Given the description of an element on the screen output the (x, y) to click on. 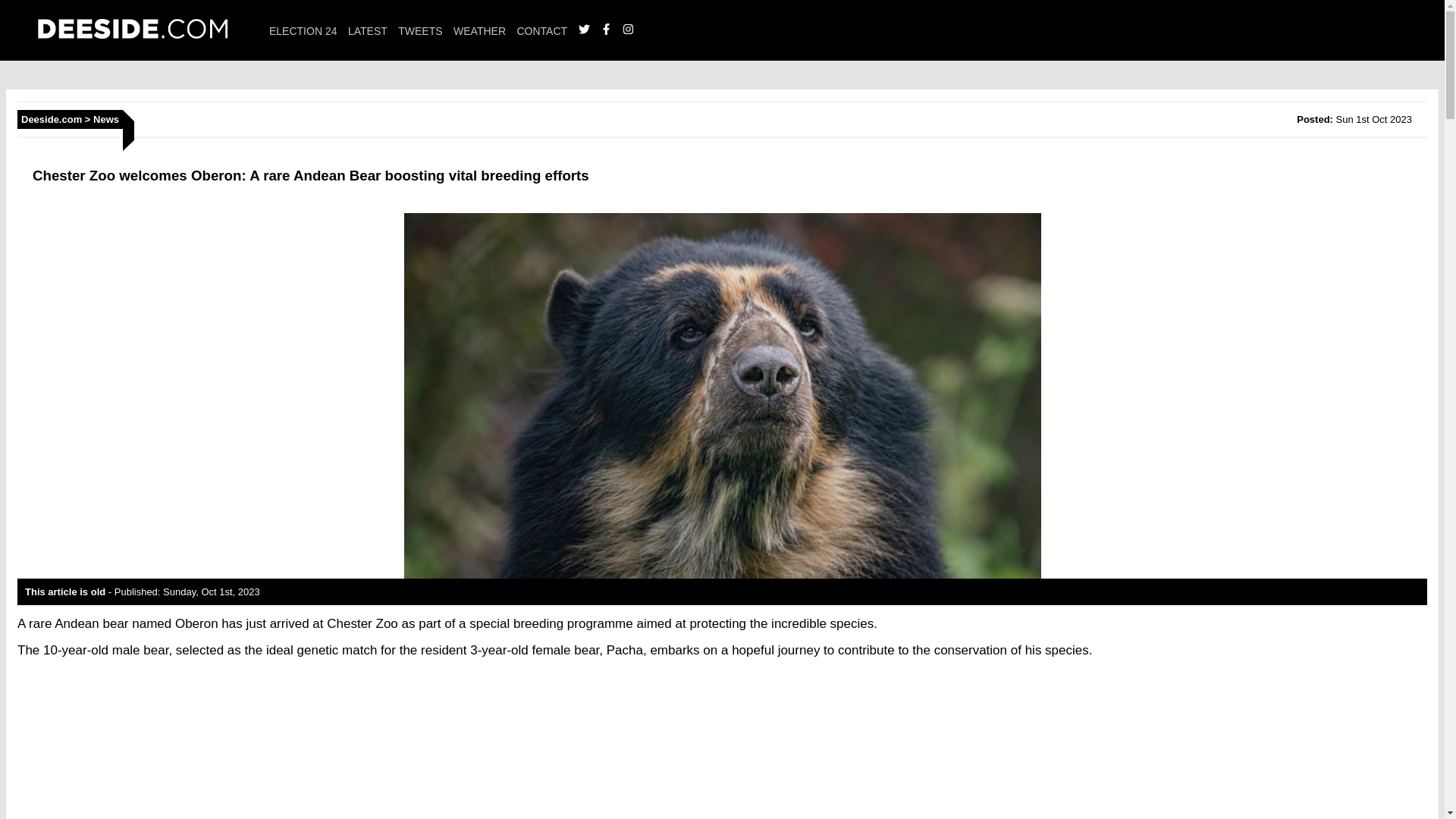
WEATHER (478, 30)
TWEETS (419, 30)
CONTACT (541, 30)
LATEST (367, 30)
ELECTION 24 (302, 30)
